Given the description of an element on the screen output the (x, y) to click on. 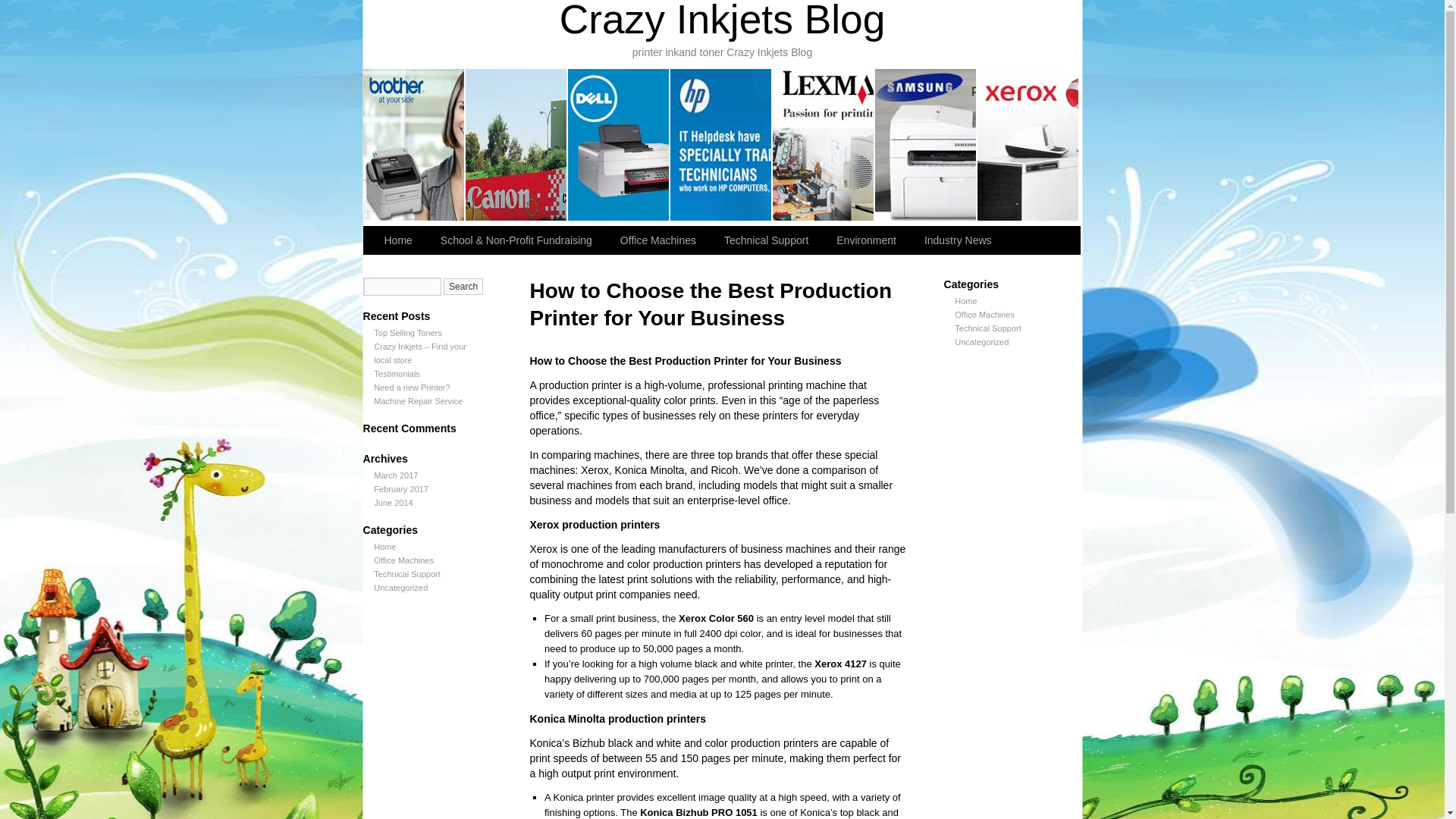
Technical Support (767, 240)
Crazy Inkjets Blog (722, 20)
Office Machines (984, 314)
Home (399, 240)
Technical Support (406, 573)
Crazy Inkjets Blog (722, 20)
Home (965, 300)
View all posts filed under Uncategorized (401, 587)
Home (385, 546)
Office Machines (403, 560)
Office Machines (659, 240)
Search (463, 286)
View all posts filed under Uncategorized (982, 341)
Technical Support (987, 327)
